Given the description of an element on the screen output the (x, y) to click on. 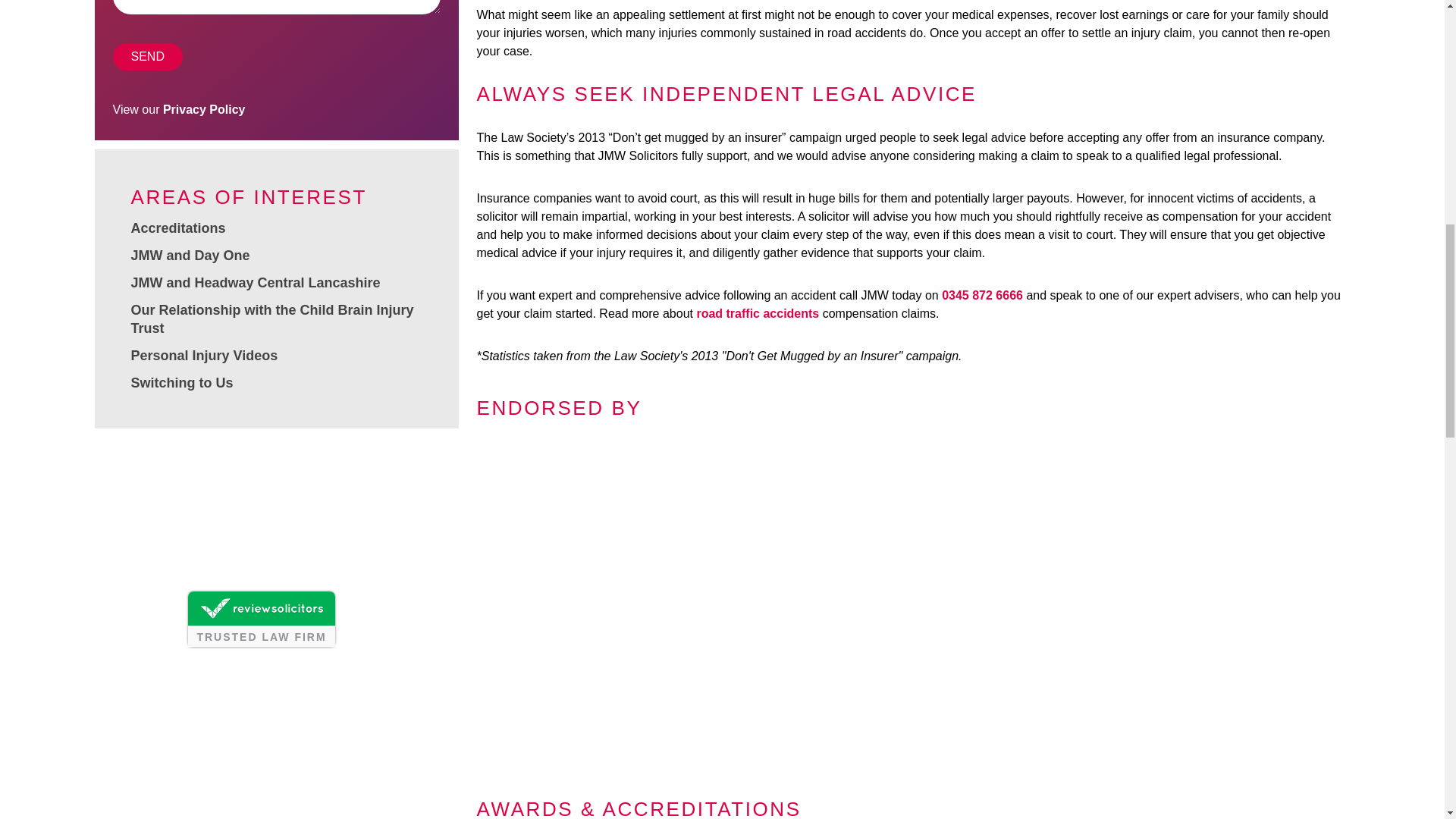
Accreditations (178, 227)
Our Relationship with the Child Brain Injury Trust (272, 318)
0345 872 6666 (982, 295)
Customer reviews powered by Trustpilot (275, 508)
Switching to Us (181, 382)
SEND (147, 56)
JMW and Day One (189, 255)
JMW and Headway Central Lancashire (255, 282)
Personal Injury Videos (204, 355)
ReviewSolicitors (260, 645)
Privacy Policy (204, 109)
road traffic accidents (756, 313)
